Given the description of an element on the screen output the (x, y) to click on. 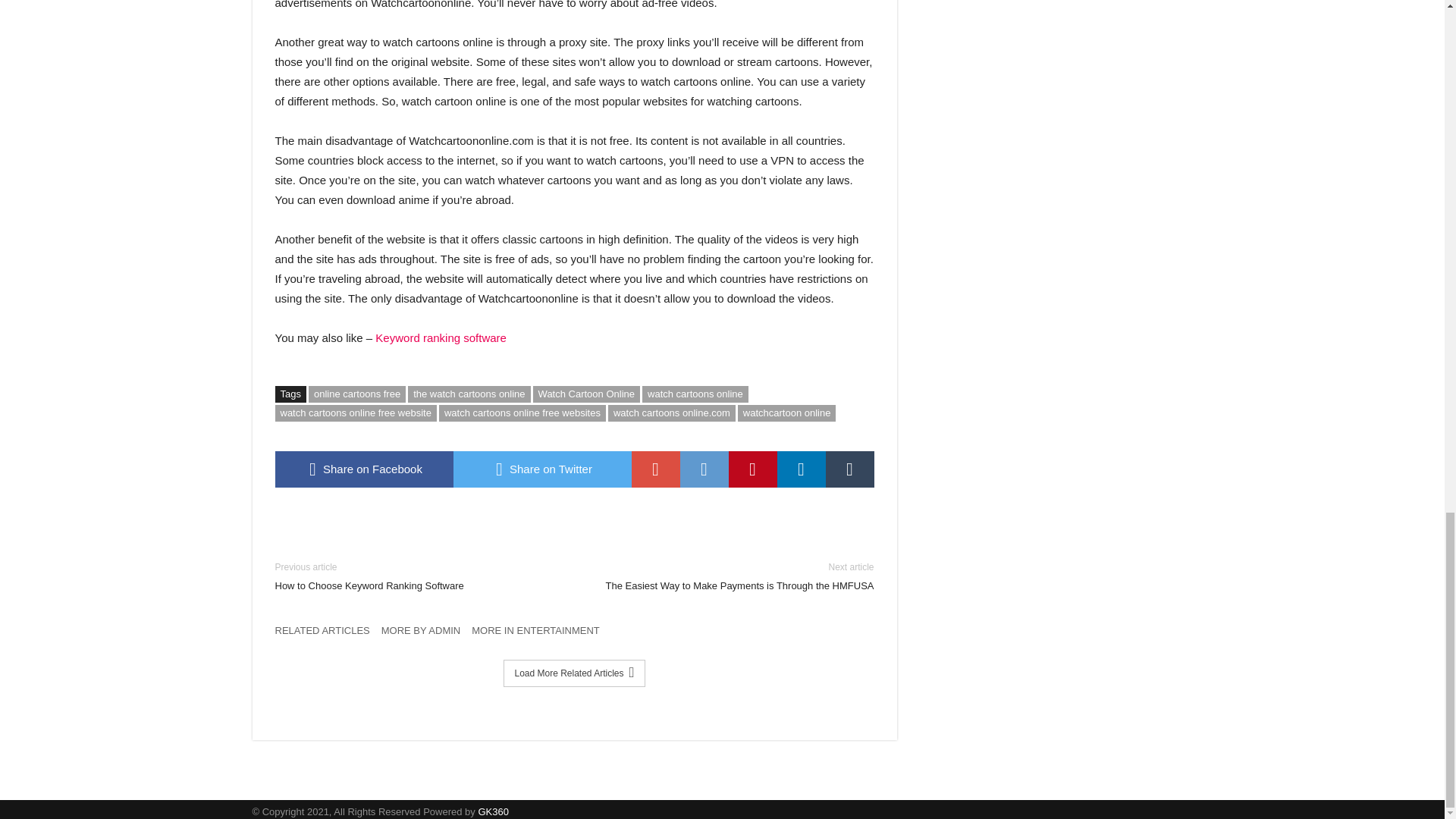
watch cartoons online (695, 393)
reddit (703, 469)
Watch Cartoon Online (586, 393)
Keyword ranking software (440, 337)
twitter (541, 469)
facebook (363, 469)
google (654, 469)
the watch cartoons online (468, 393)
watch cartoons online free website (355, 412)
online cartoons free (357, 393)
